Given the description of an element on the screen output the (x, y) to click on. 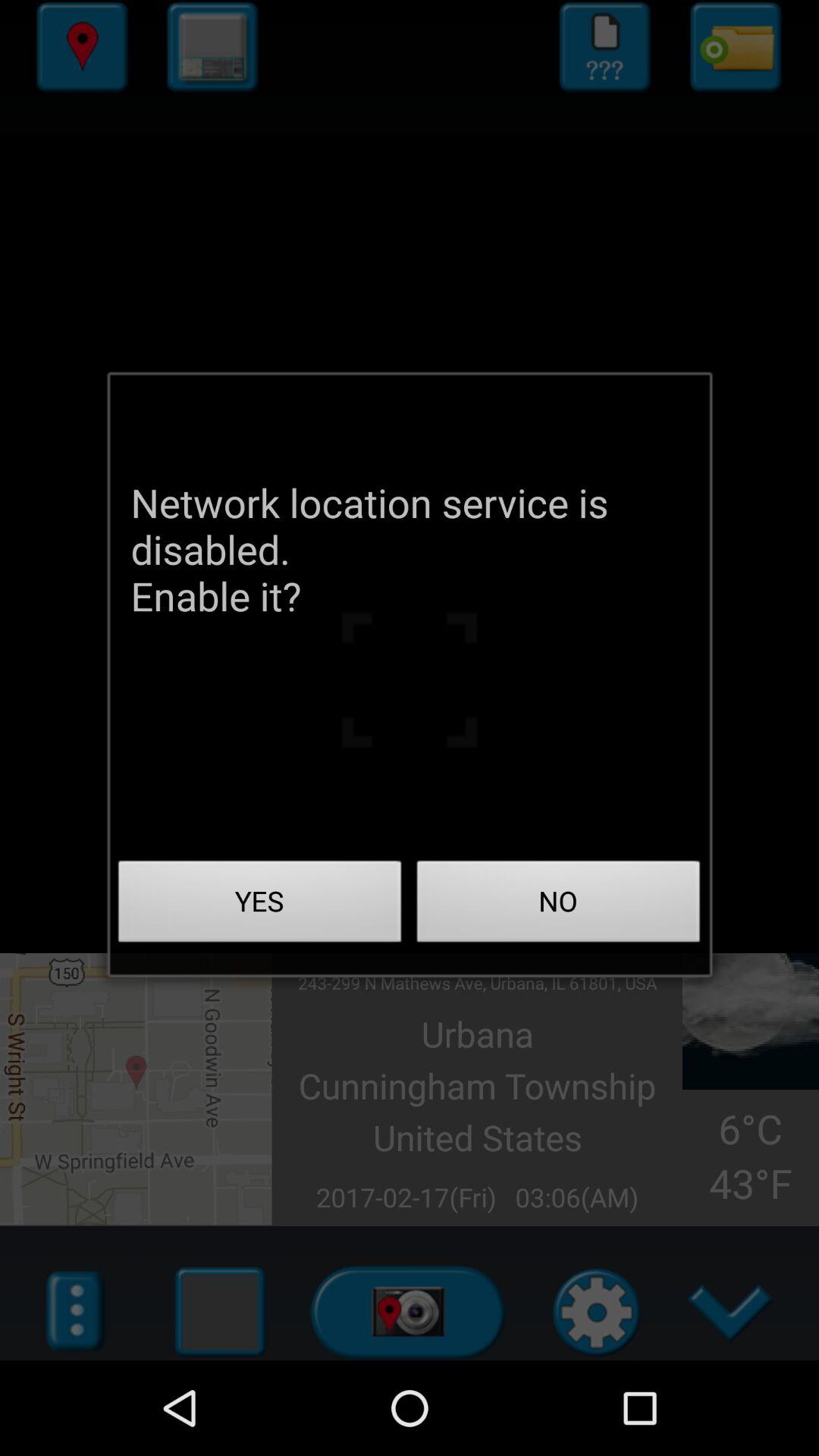
click yes on the left (259, 905)
